Given the description of an element on the screen output the (x, y) to click on. 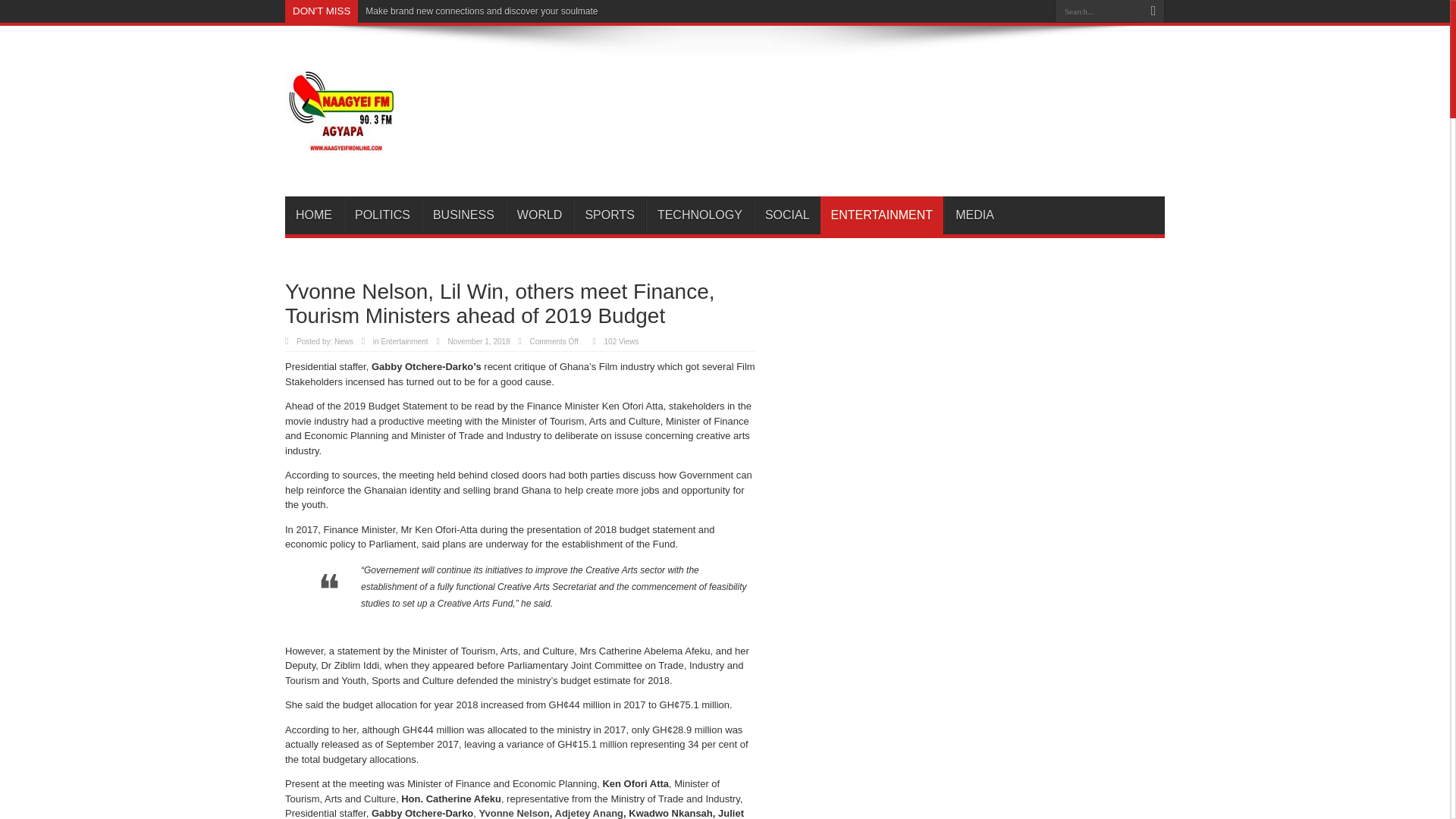
WORLD (539, 215)
Make brand new connections and discover your soulmate (480, 11)
Search... (1097, 11)
SPORTS (609, 215)
HOME (313, 215)
News (343, 341)
Naagyei 90.3 Fm (341, 158)
Make brand new connections and discover your soulmate (480, 11)
Adjetey Anang (589, 813)
TECHNOLOGY (699, 215)
